Given the description of an element on the screen output the (x, y) to click on. 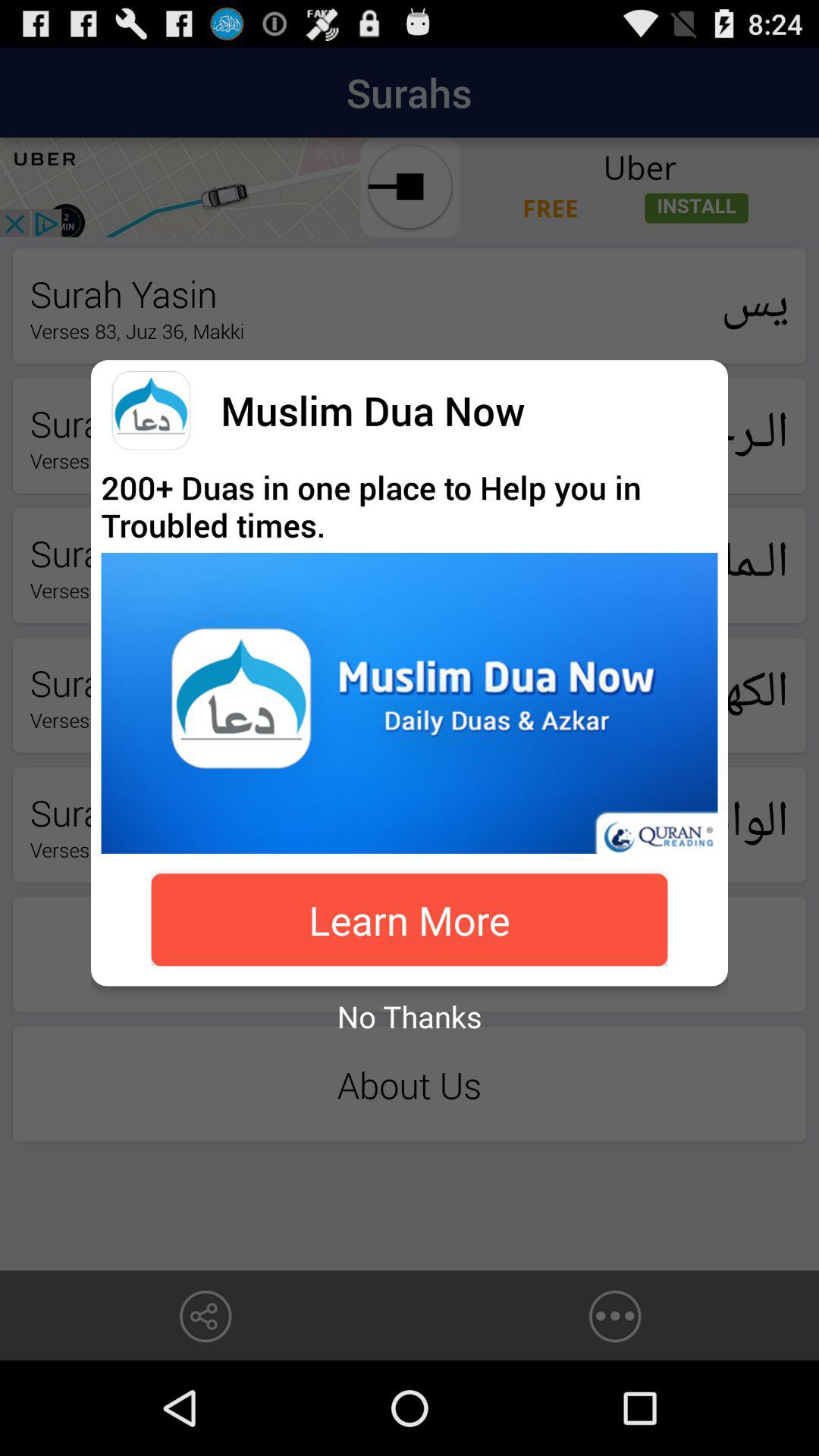
open advertisement (409, 702)
